Given the description of an element on the screen output the (x, y) to click on. 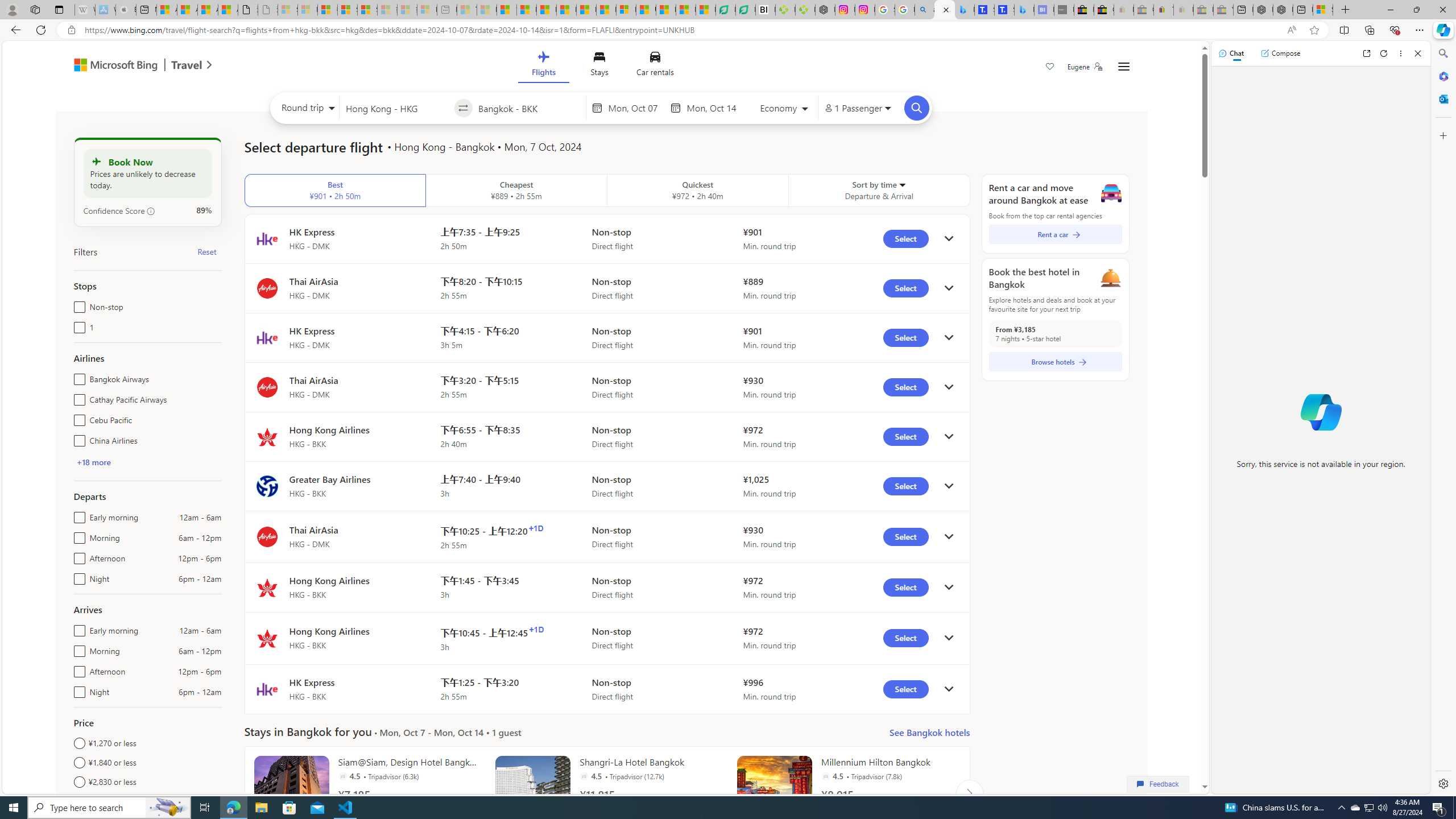
US Heat Deaths Soared To Record High Last Year (646, 9)
Class: trvl-hub-header nofilter (601, 65)
Rent a car (1055, 234)
Cathay Pacific Airways (76, 397)
Foo BAR | Trusted Community Engagement and Contributions (606, 9)
Browse hotels (1055, 361)
Night6pm - 12am (76, 689)
Select trip type (305, 110)
Microsoft Bing Travel - Flights from Hong Kong to Bangkok (944, 9)
